Given the description of an element on the screen output the (x, y) to click on. 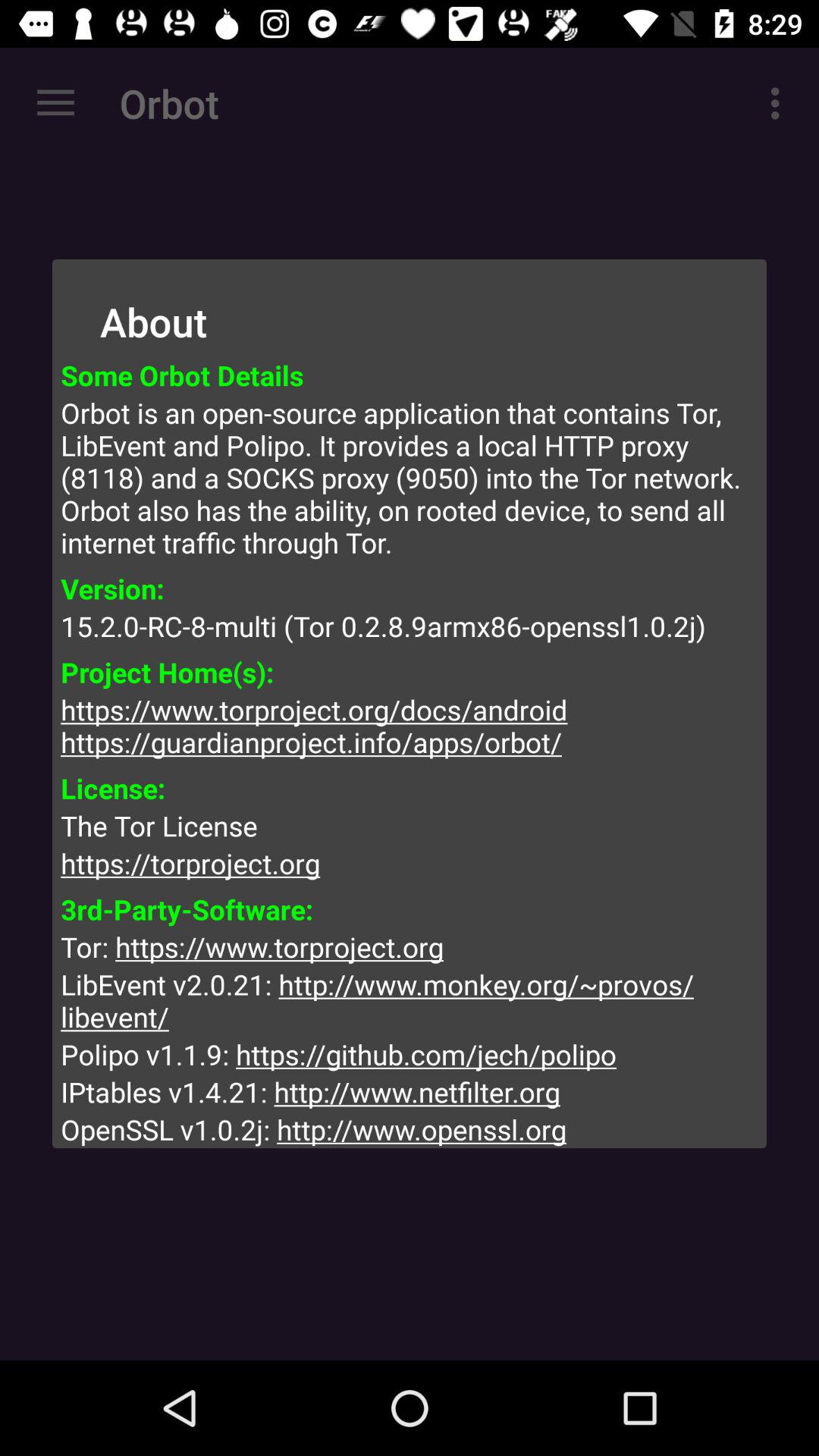
click the iptables v1 4 (409, 1091)
